Given the description of an element on the screen output the (x, y) to click on. 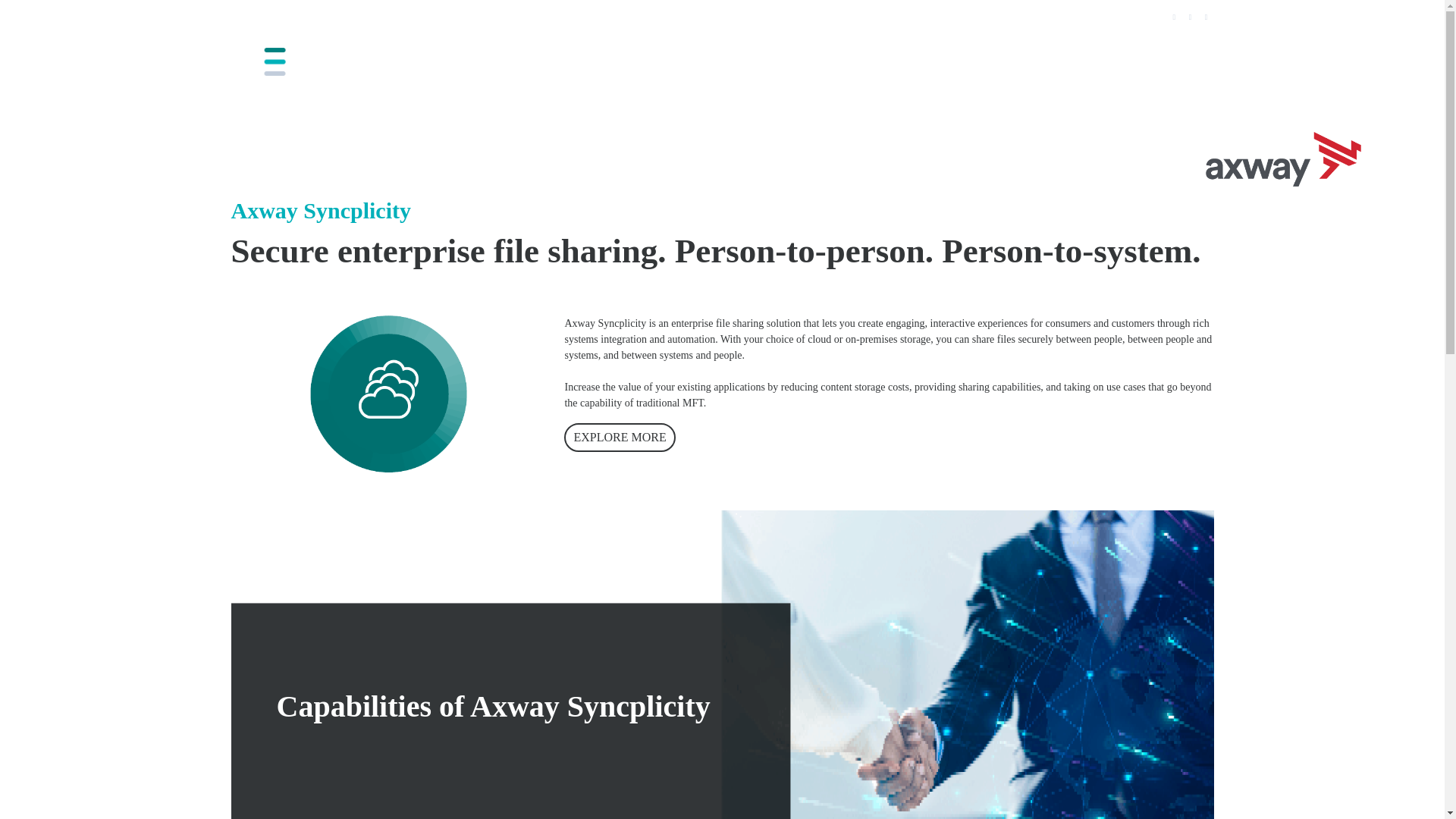
Toggle navigation (1203, 61)
EXPLORE MORE (619, 437)
